Given the description of an element on the screen output the (x, y) to click on. 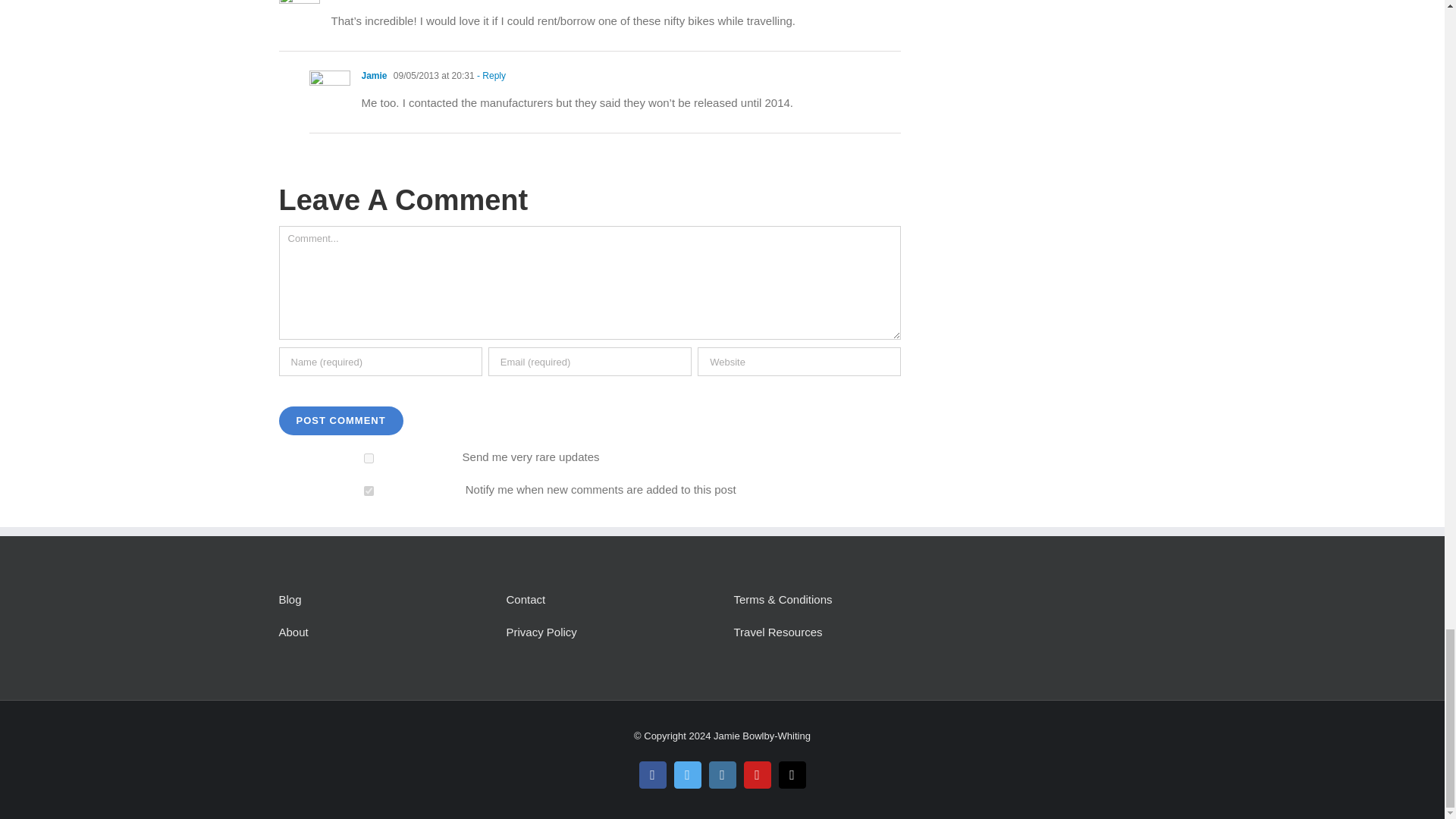
1 (369, 491)
Twitter (686, 774)
Instagram (721, 774)
1 (369, 458)
Facebook (652, 774)
Post Comment (341, 420)
